Given the description of an element on the screen output the (x, y) to click on. 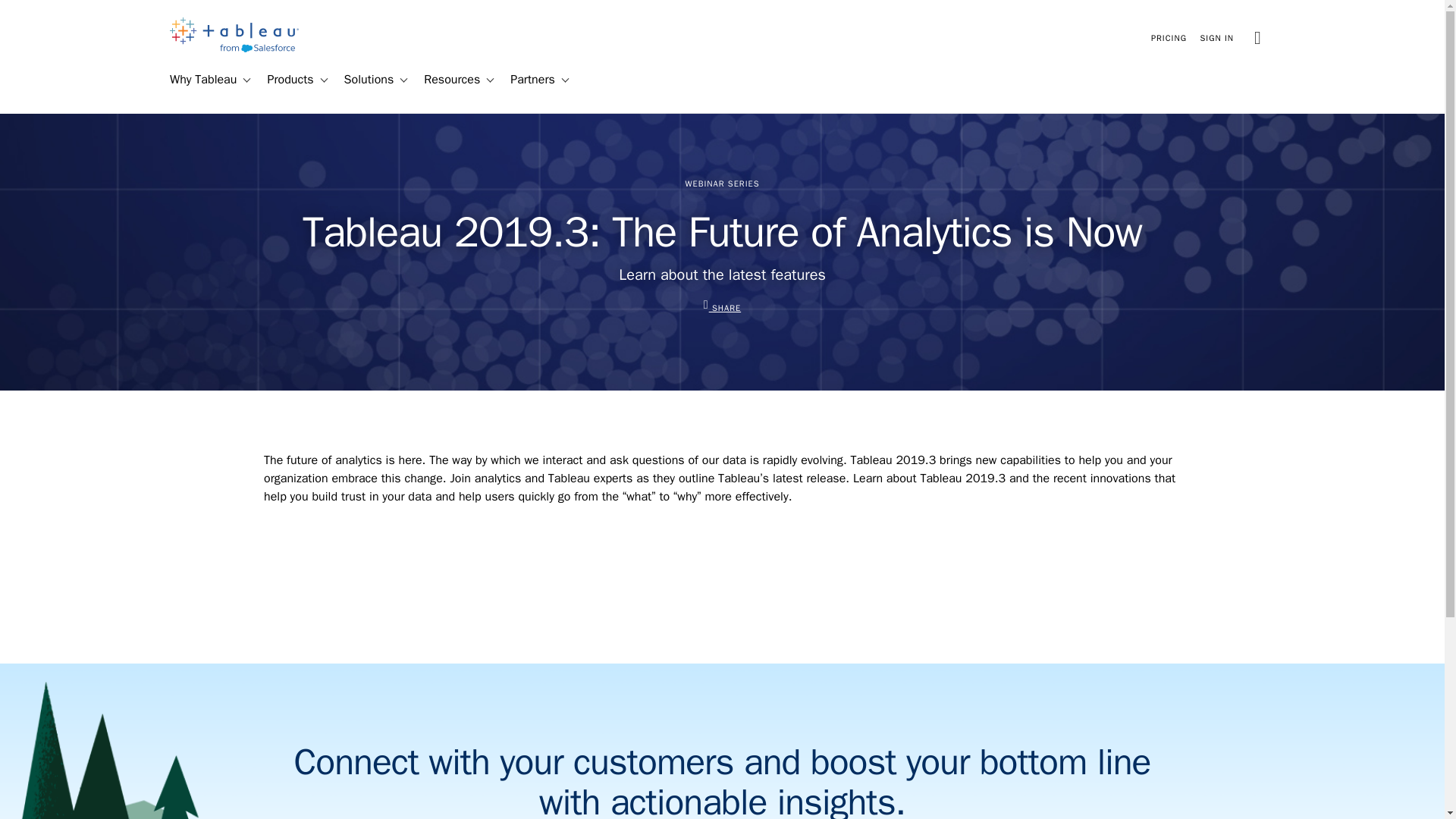
Toggle sub-navigation (402, 79)
Why Tableau (196, 79)
Toggle sub-navigation (244, 79)
Solutions (362, 79)
Products (283, 79)
Return to the Tableau Software home page (234, 48)
Toggle sub-navigation (322, 79)
